Given the description of an element on the screen output the (x, y) to click on. 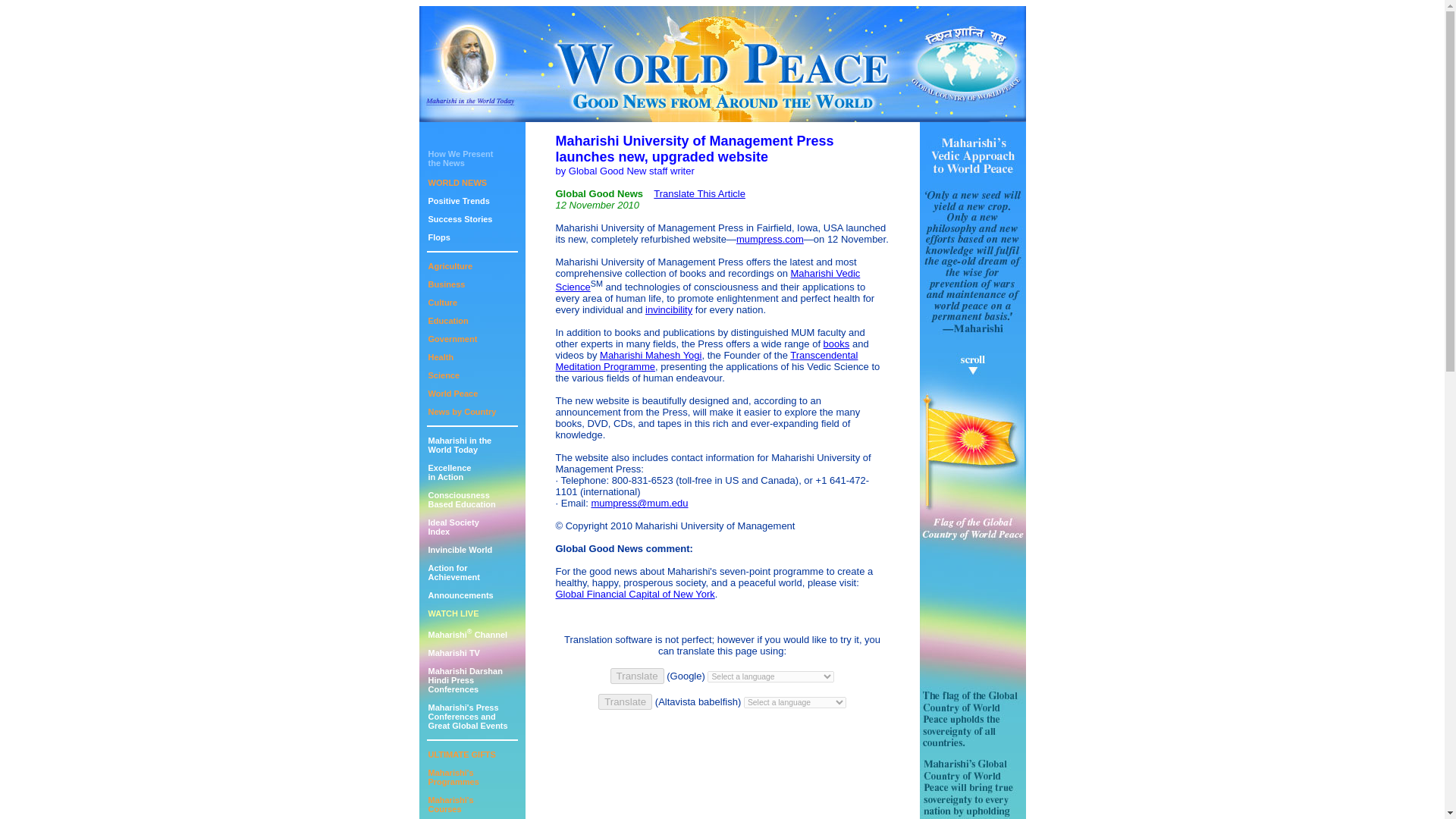
Science (450, 804)
Health (444, 375)
Flops (453, 572)
World Peace (440, 356)
Business (449, 472)
